Given the description of an element on the screen output the (x, y) to click on. 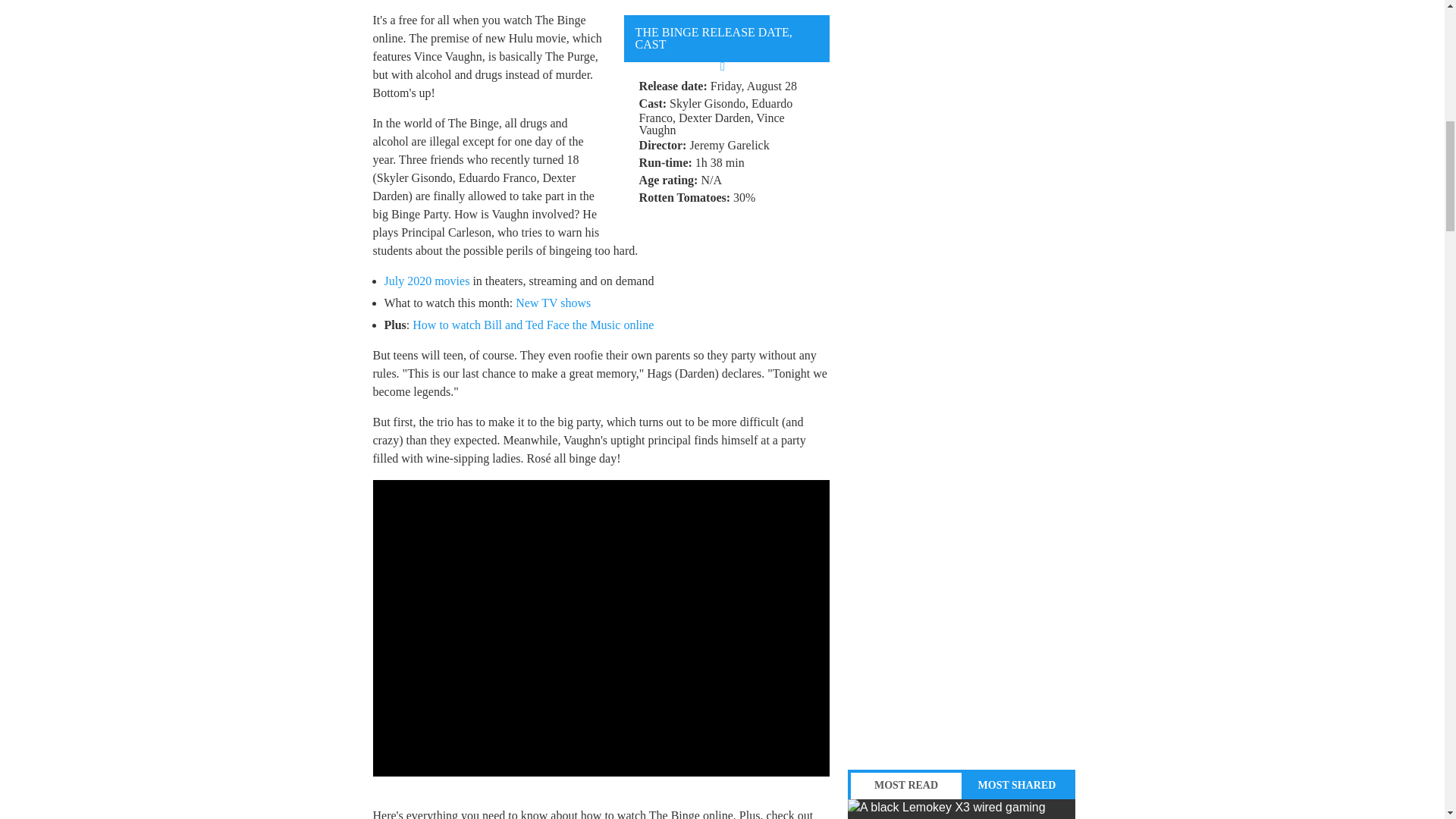
Lemokey X3 review: Not the king of budget keyboards (961, 809)
